Given the description of an element on the screen output the (x, y) to click on. 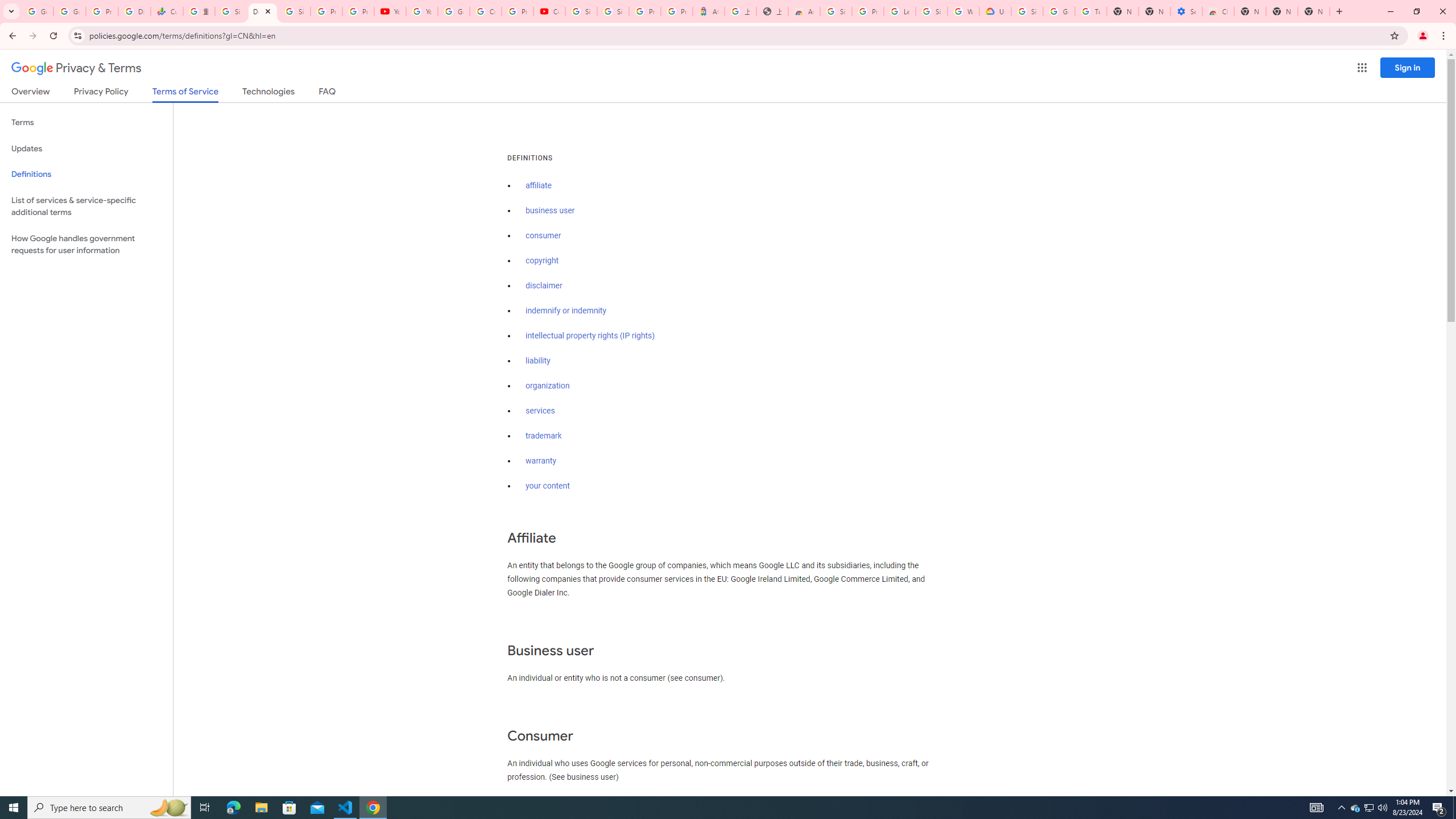
Currencies - Google Finance (166, 11)
Content Creator Programs & Opportunities - YouTube Creators (549, 11)
Who are Google's partners? - Privacy and conditions - Google (963, 11)
List of services & service-specific additional terms (86, 206)
How Google handles government requests for user information (86, 244)
